Given the description of an element on the screen output the (x, y) to click on. 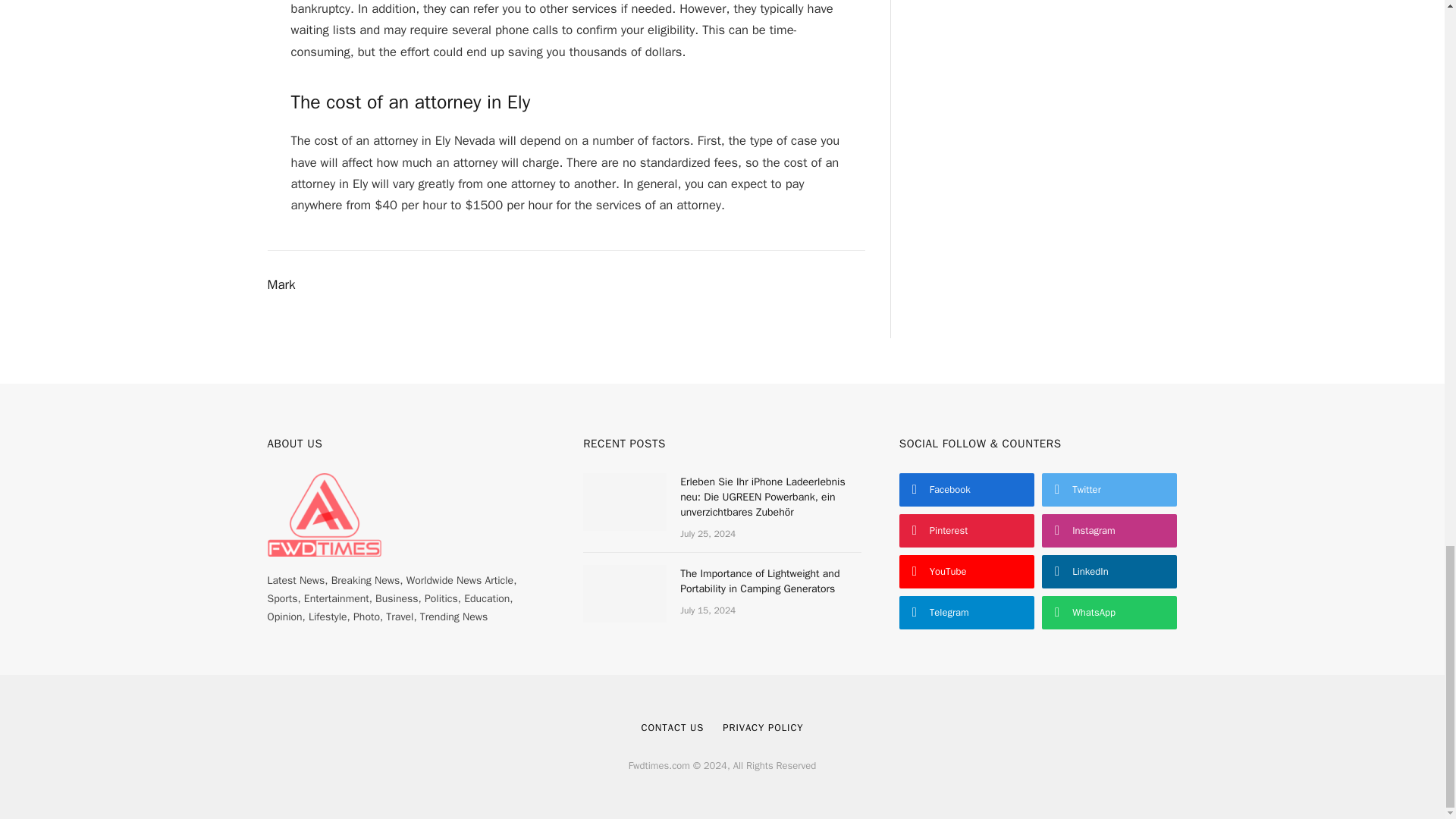
Posts by Mark (280, 284)
Mark (280, 284)
